Given the description of an element on the screen output the (x, y) to click on. 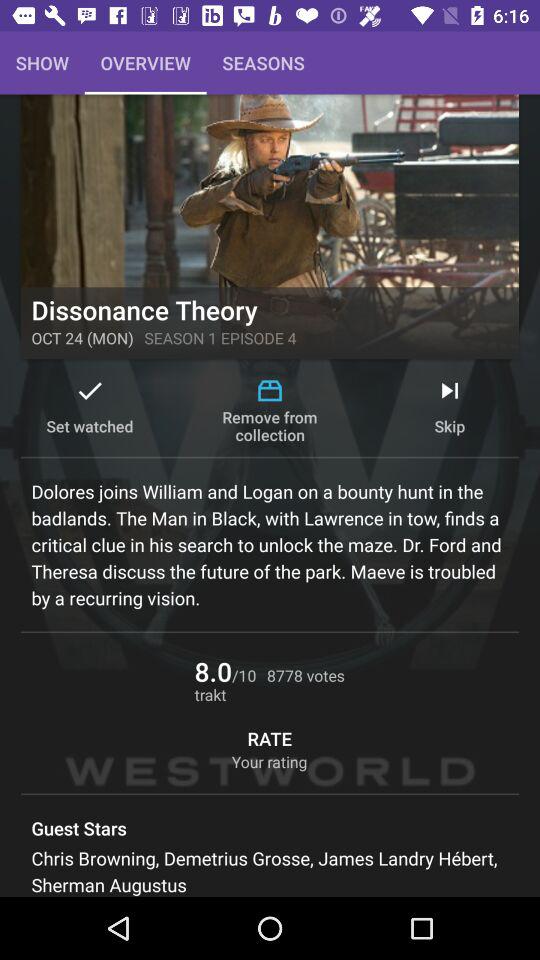
tap the icon below guest stars (269, 871)
